Given the description of an element on the screen output the (x, y) to click on. 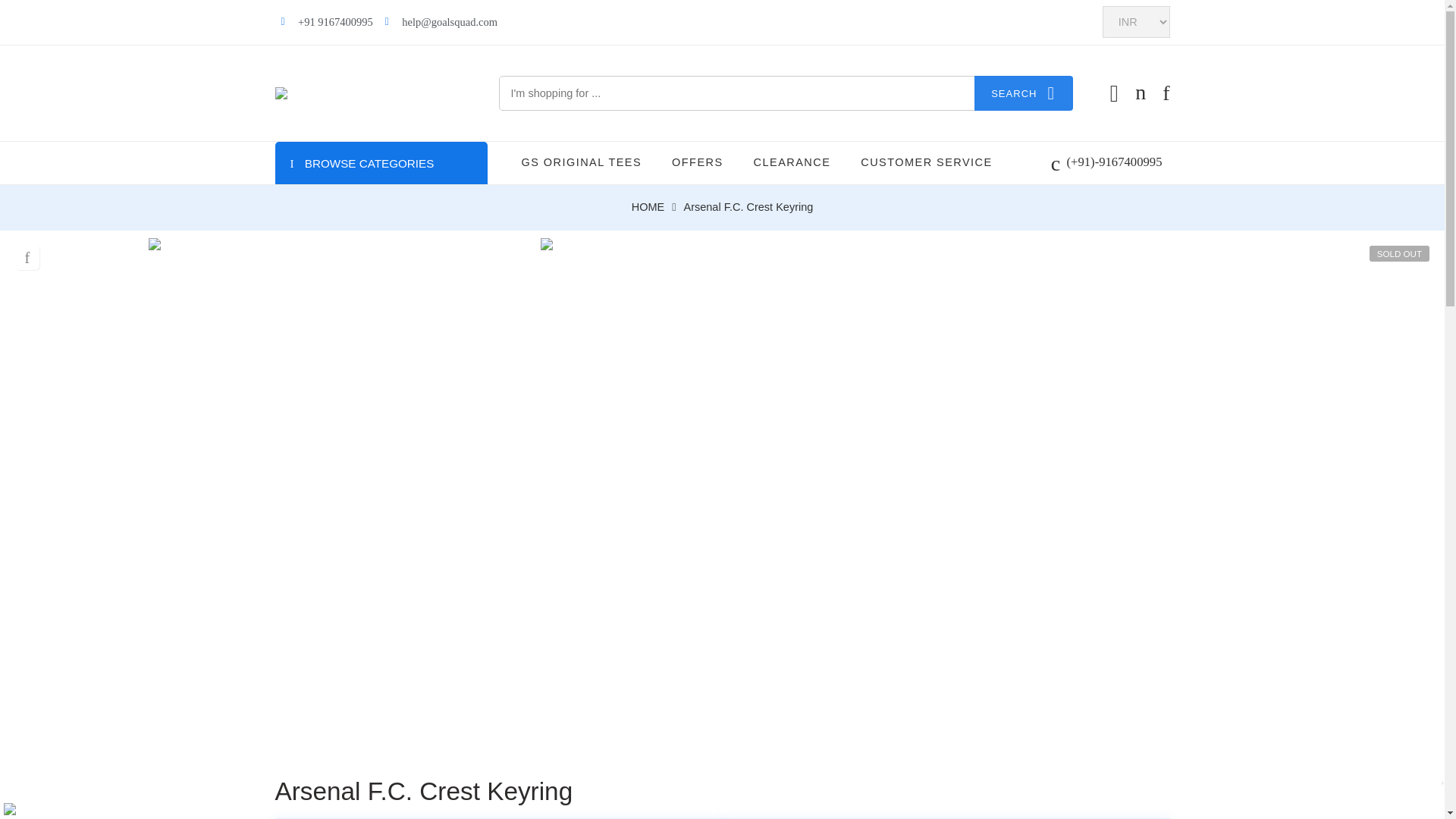
Cart (1140, 93)
SEARCH (1023, 93)
GOALSQUAD - Official Sports Merchandise (369, 92)
